Given the description of an element on the screen output the (x, y) to click on. 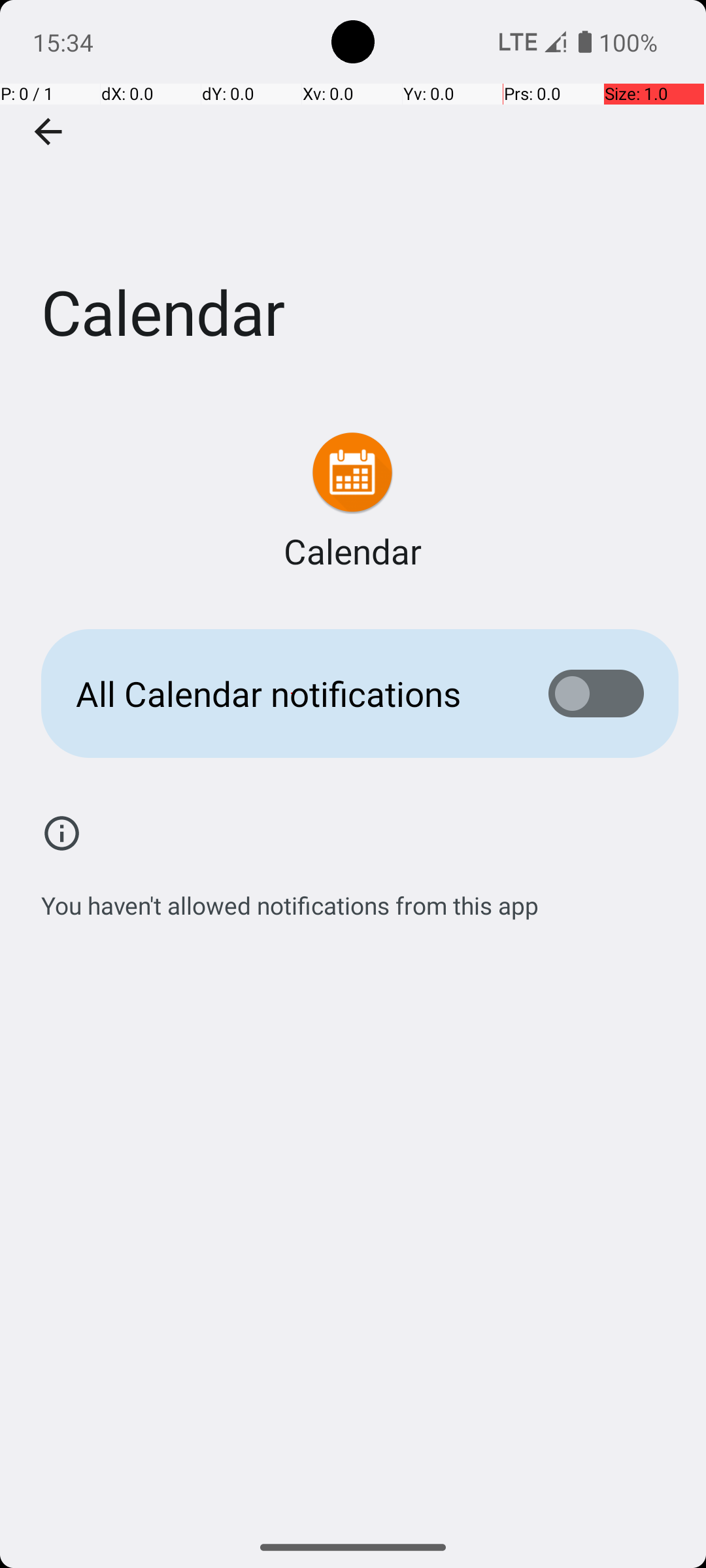
All Calendar notifications Element type: android.widget.TextView (291, 693)
You haven't allowed notifications from this app Element type: android.widget.TextView (290, 898)
